Given the description of an element on the screen output the (x, y) to click on. 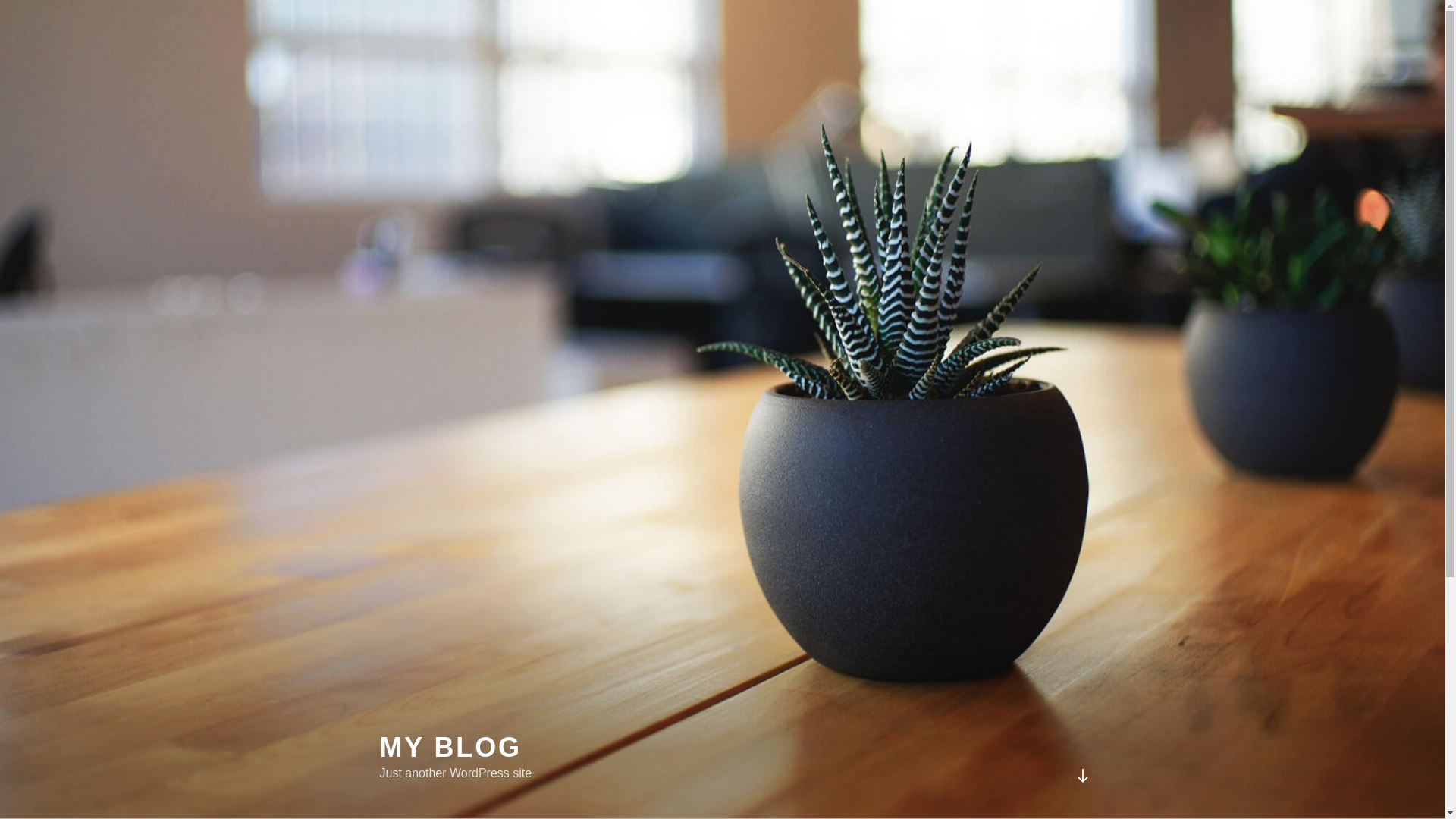
Scroll down to content Element type: text (1082, 775)
MY BLOG Element type: text (450, 746)
